Given the description of an element on the screen output the (x, y) to click on. 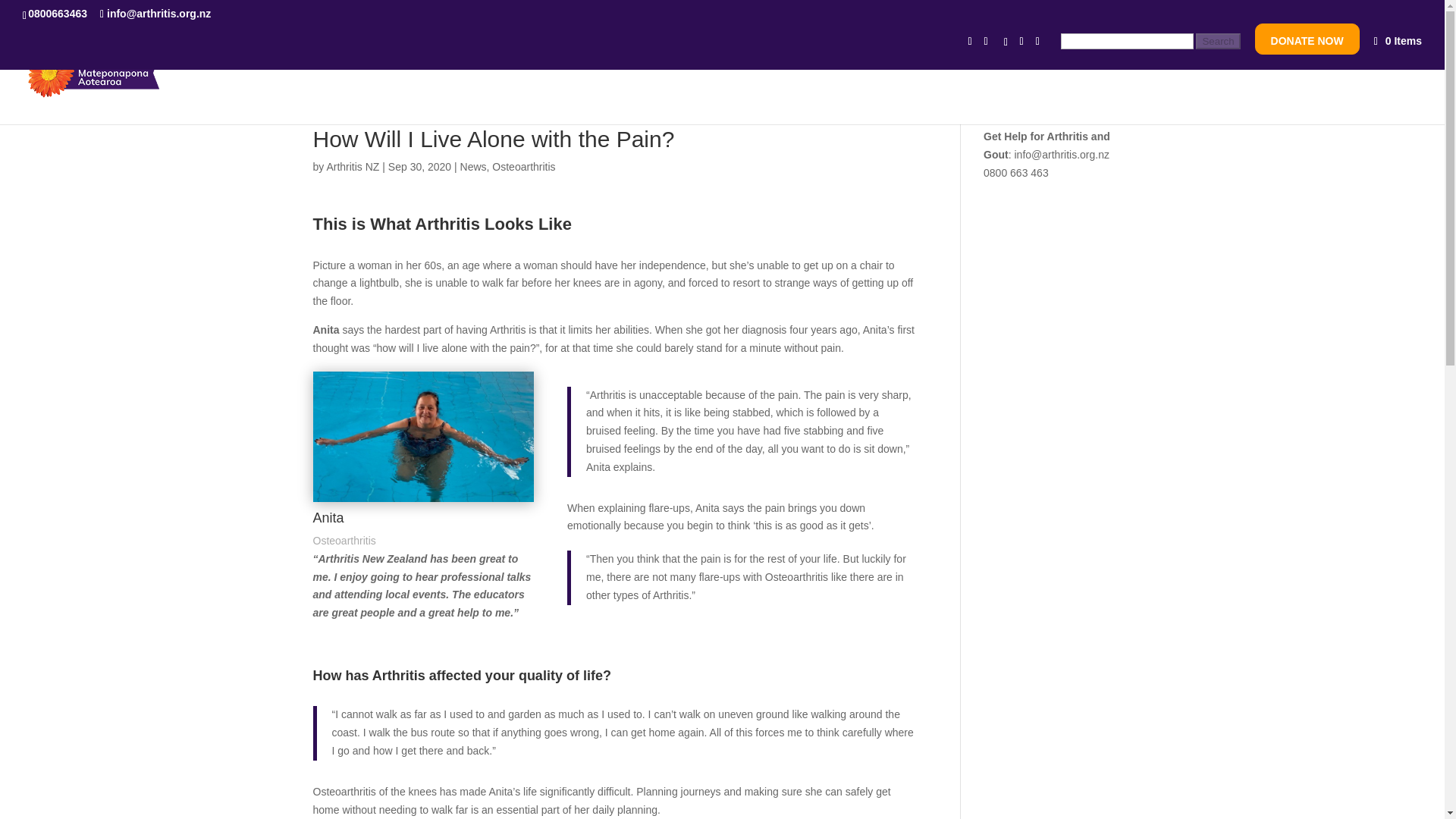
0 Items (1396, 40)
0800663463 (60, 13)
Search (1217, 41)
Search for: (1150, 45)
About Arthritis (817, 80)
DONATE NOW (1307, 44)
Search (1217, 41)
Posts by Arthritis NZ (352, 166)
